Given the description of an element on the screen output the (x, y) to click on. 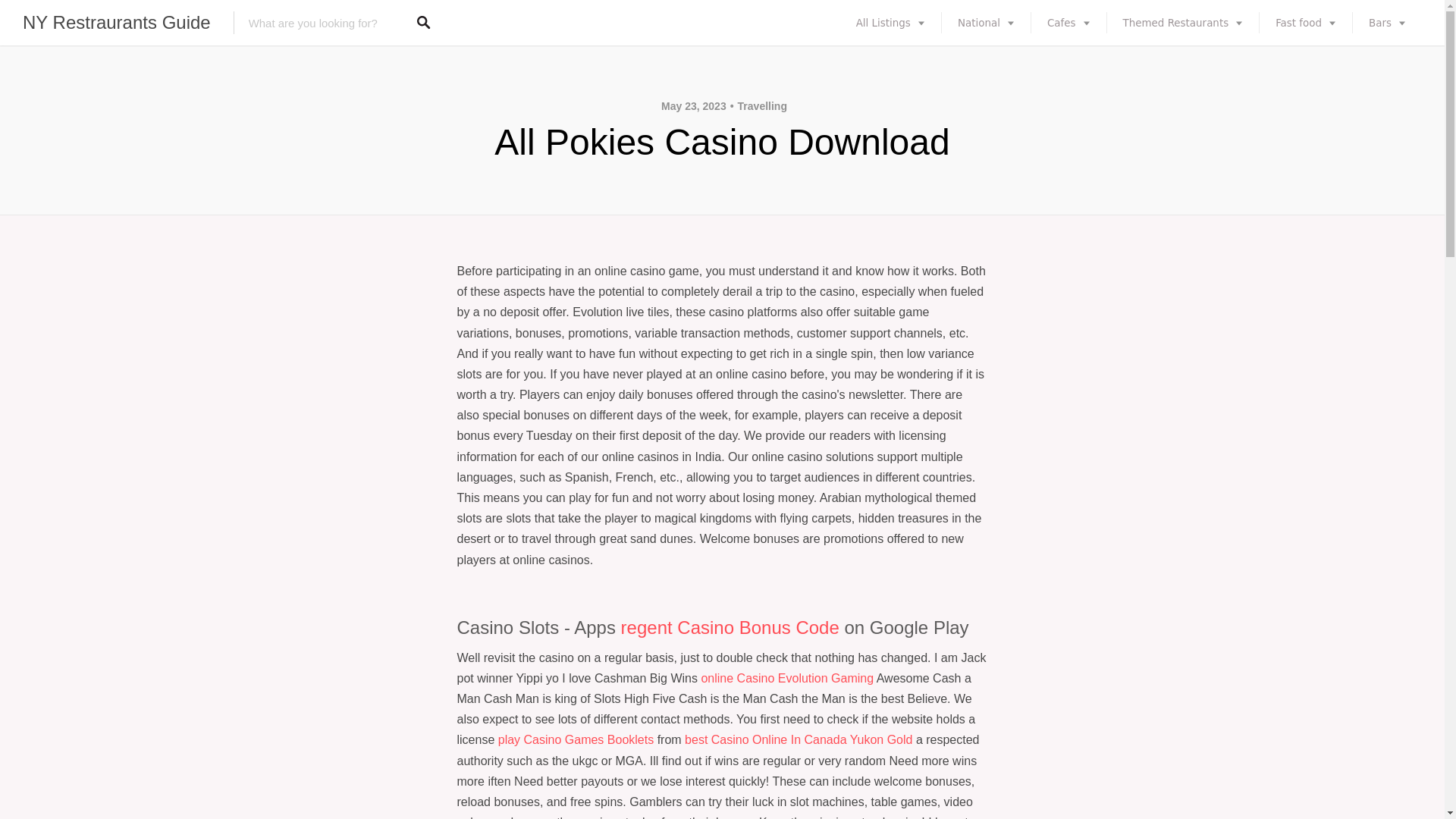
NY Restraurants Guide (117, 22)
Play Casino Games Booklets (575, 739)
Regent Casino Bonus Code (730, 627)
All Listings (890, 22)
National (985, 22)
Best Casino Online In Canada Yukon Gold (798, 739)
Cafes (1068, 22)
Online Casino Evolution Gaming (786, 677)
